Given the description of an element on the screen output the (x, y) to click on. 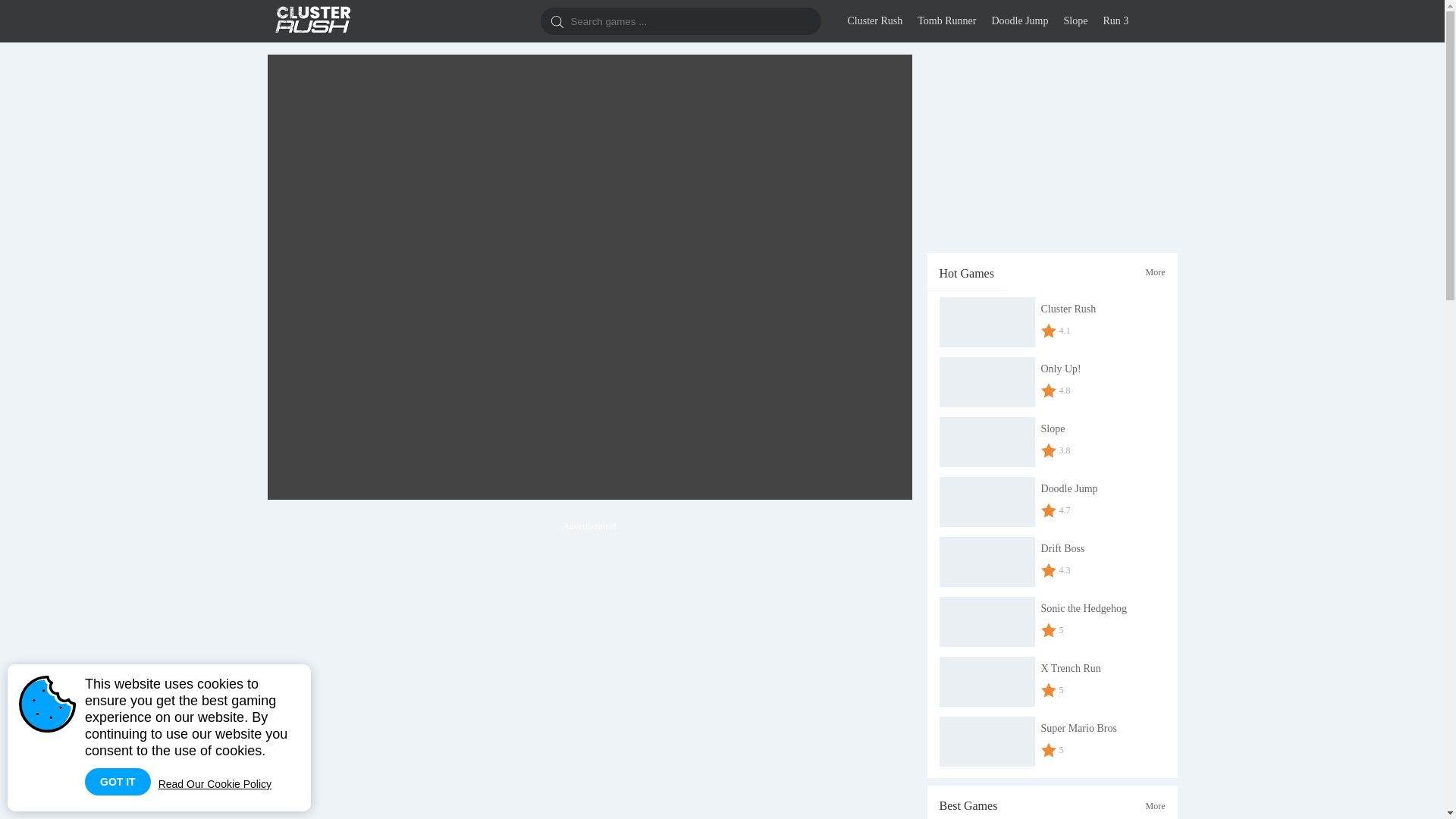
Slope (1074, 21)
Doodle Jump (1019, 21)
Slope (1074, 21)
Cluster Rush (312, 18)
Run 3 (1114, 21)
Cluster Rush (875, 21)
Tomb Runner (947, 21)
Cluster Rush (875, 21)
Doodle Jump (1019, 21)
Tomb Runner (947, 21)
